Given the description of an element on the screen output the (x, y) to click on. 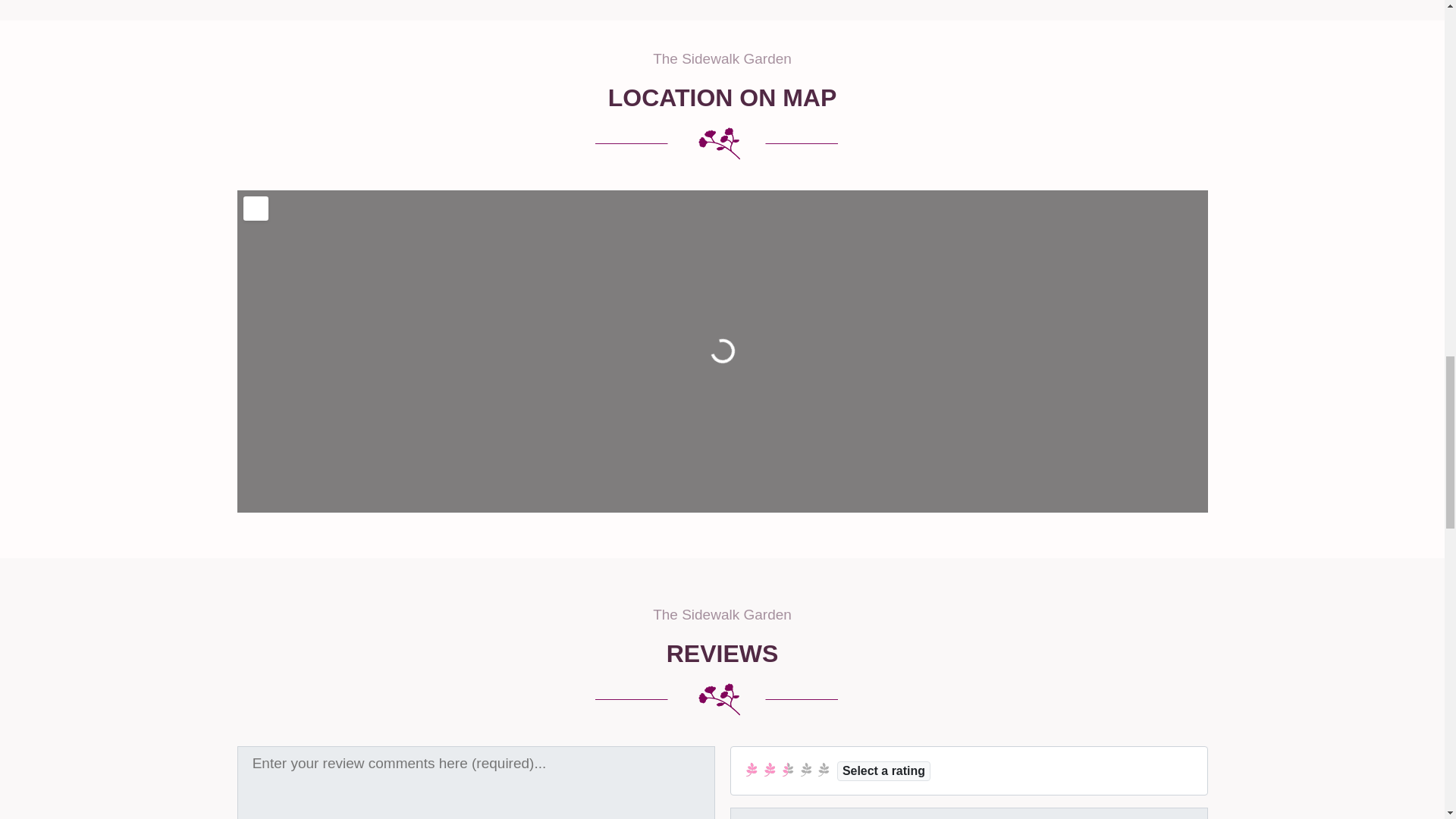
Excellent (822, 769)
Average (787, 769)
Terrible (751, 769)
Poor (769, 769)
Very Good (805, 769)
